Given the description of an element on the screen output the (x, y) to click on. 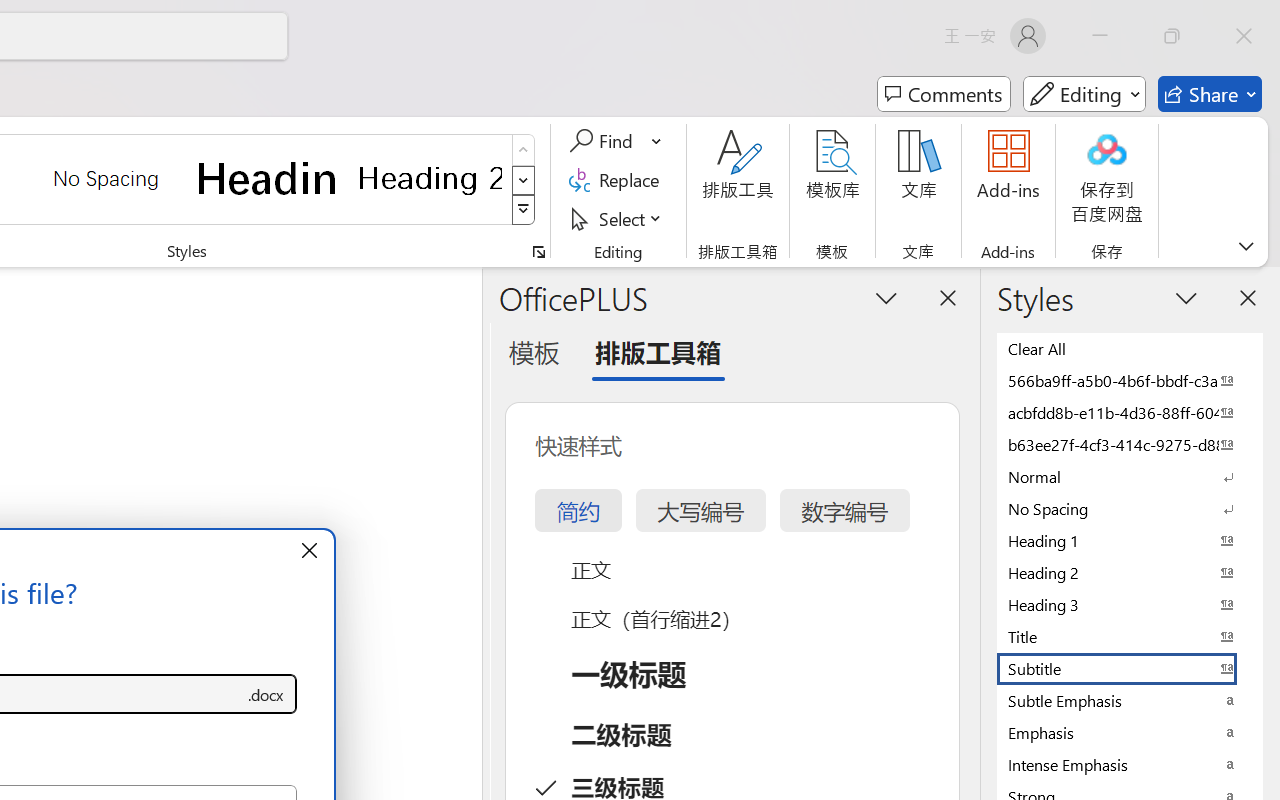
acbfdd8b-e11b-4d36-88ff-6049b138f862 (1130, 412)
Save as type (265, 694)
Find (604, 141)
Task Pane Options (886, 297)
No Spacing (1130, 508)
Row Down (523, 180)
Mode (1083, 94)
Restore Down (1172, 36)
566ba9ff-a5b0-4b6f-bbdf-c3ab41993fc2 (1130, 380)
Row up (523, 150)
